Given the description of an element on the screen output the (x, y) to click on. 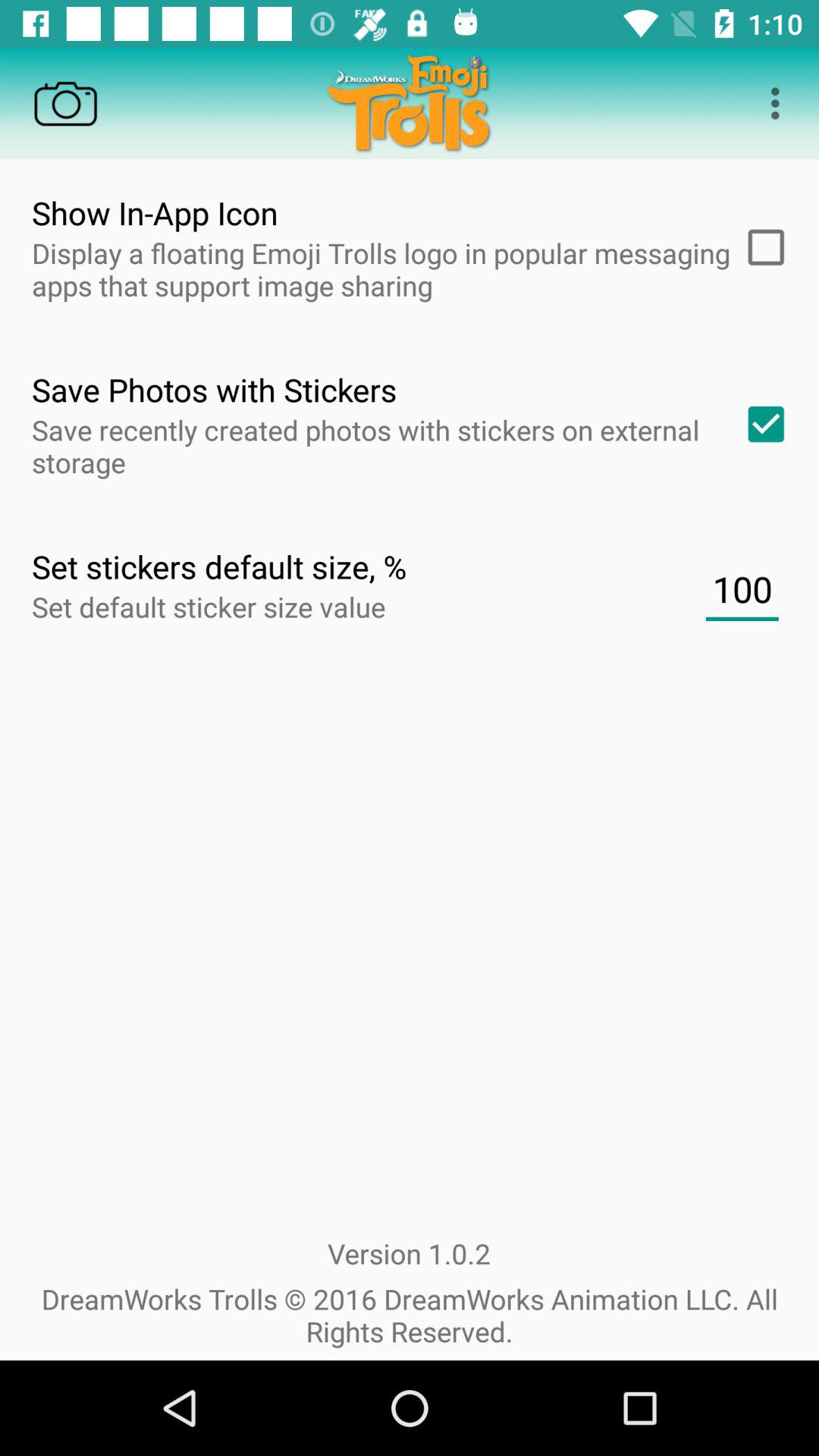
switch on the camera (65, 103)
